Given the description of an element on the screen output the (x, y) to click on. 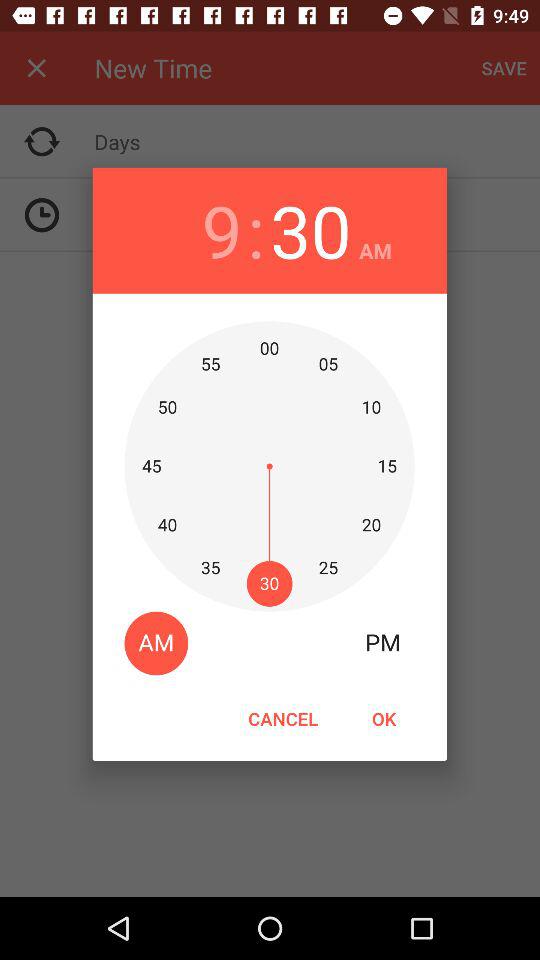
open icon next to : item (310, 230)
